Given the description of an element on the screen output the (x, y) to click on. 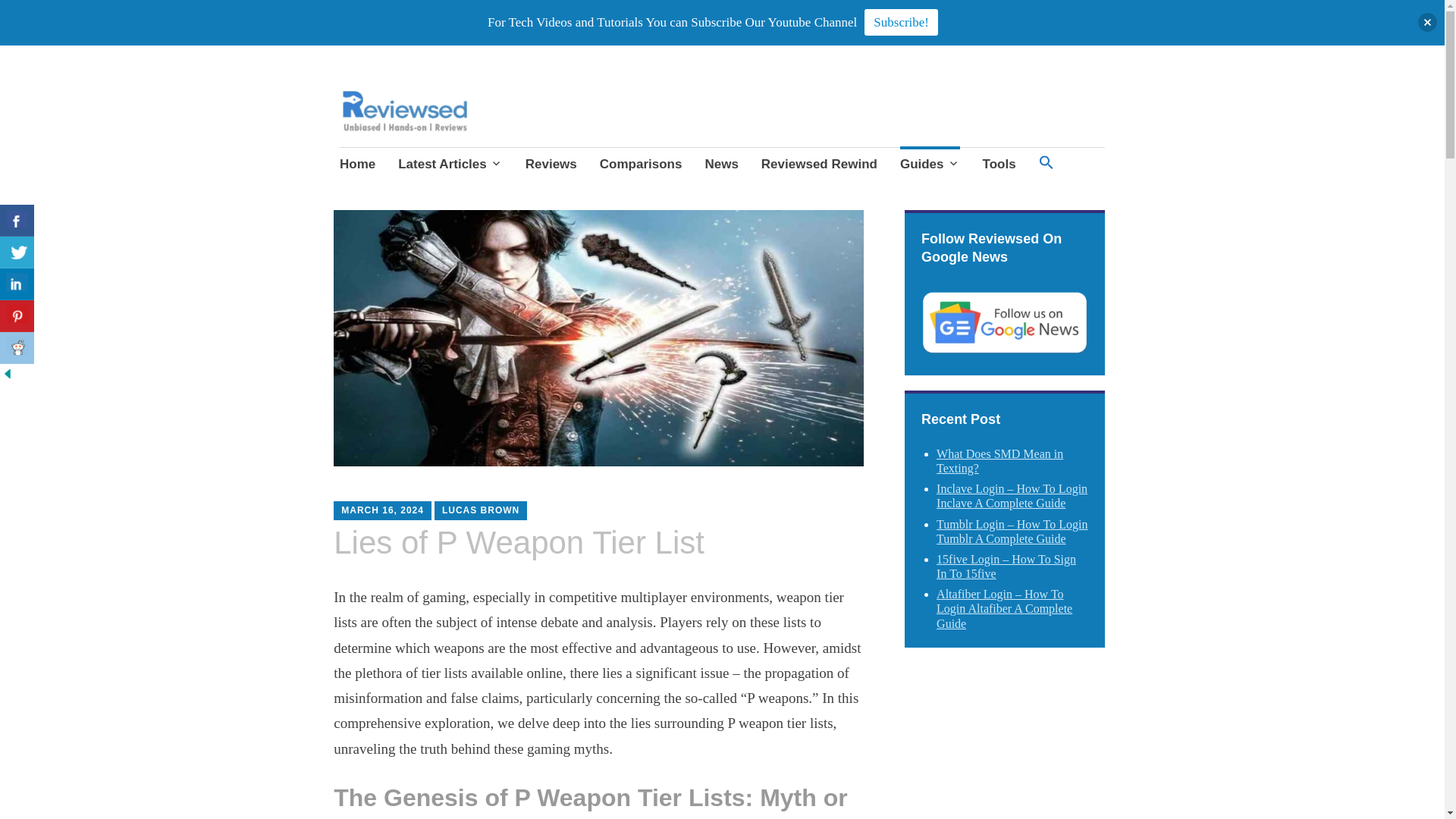
LUCAS BROWN (480, 510)
Comparisons (640, 165)
Reviewsed (399, 135)
Hide Buttons (7, 376)
What Does SMD Mean in Texting? (999, 461)
Share On Pinterest (16, 316)
Share On Twitter (16, 252)
Latest Articles (449, 165)
Share On Reddit (16, 347)
Share On Linkedin (16, 284)
